Given the description of an element on the screen output the (x, y) to click on. 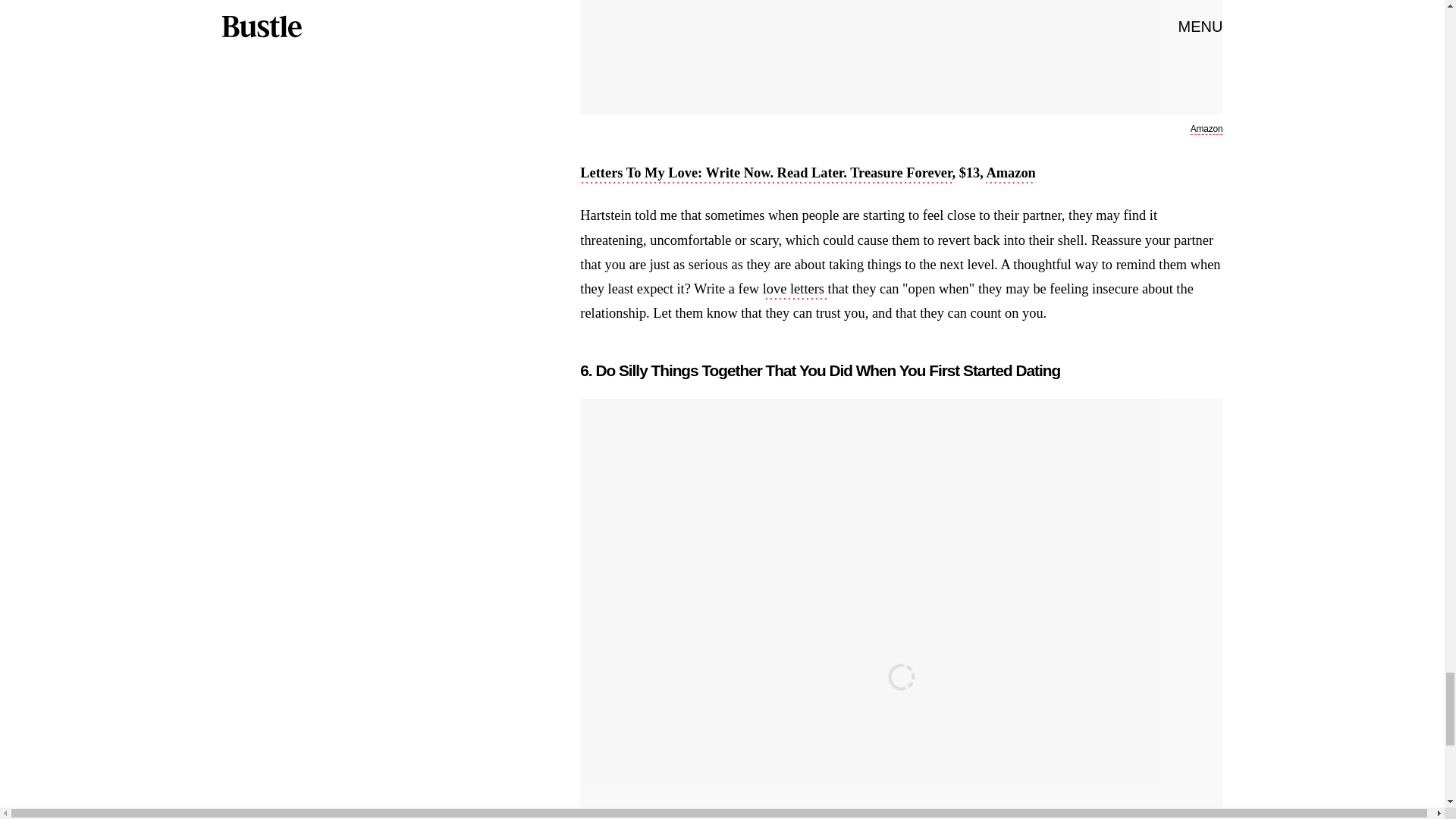
love letters (795, 290)
Amazon (1010, 174)
Letters To My Love: Write Now. Read Later. Treasure Forever (765, 174)
Amazon (1207, 129)
